Given the description of an element on the screen output the (x, y) to click on. 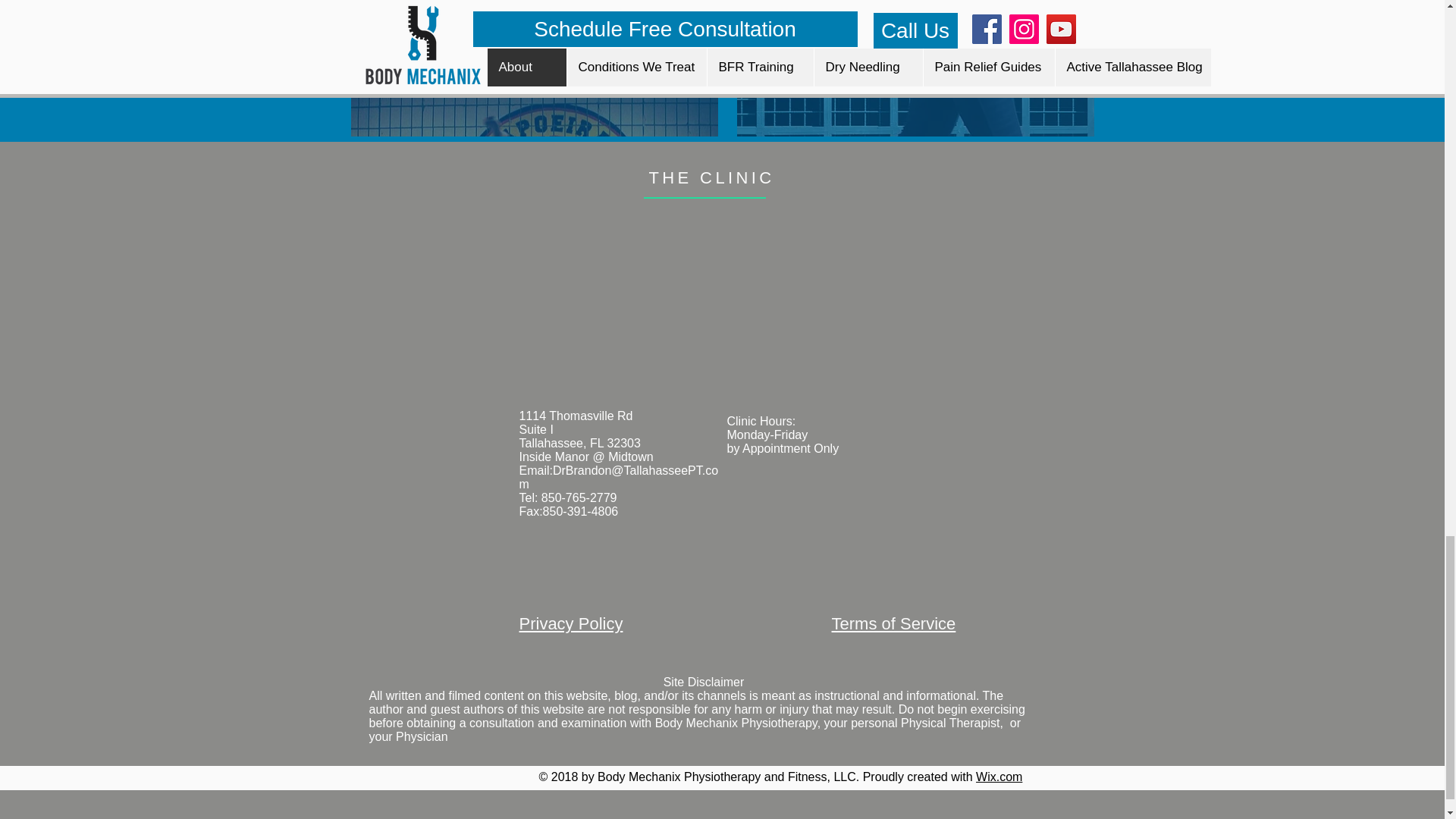
Wix.com (998, 776)
Privacy Policy (570, 623)
Terms of Service (893, 623)
